Given the description of an element on the screen output the (x, y) to click on. 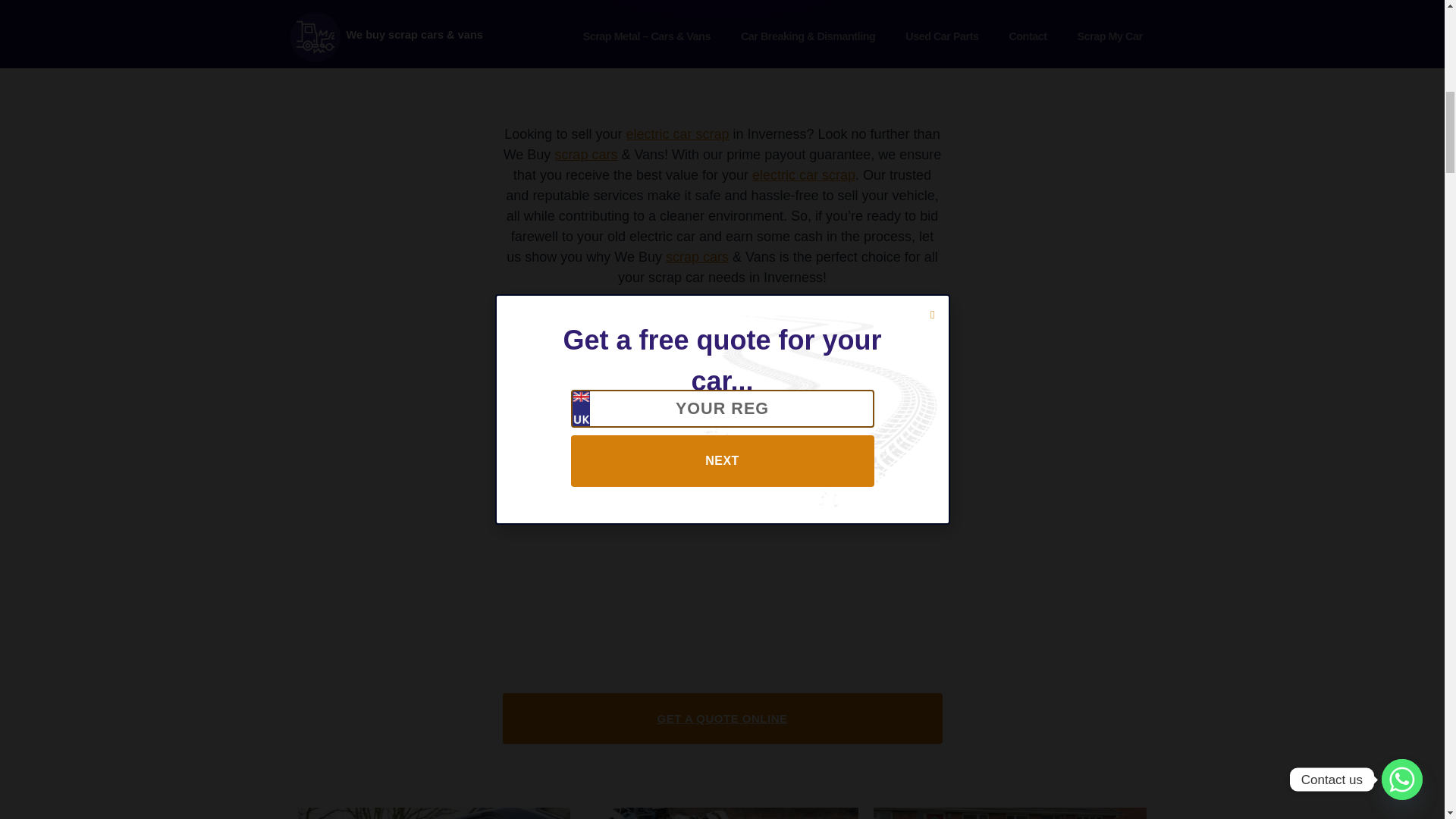
electric car scrap (804, 174)
GET A QUOTE ONLINE (722, 717)
electric car scrap (677, 133)
scrap cars (585, 154)
scrap cars (697, 256)
VALUE MY CAR (1083, 183)
